Given the description of an element on the screen output the (x, y) to click on. 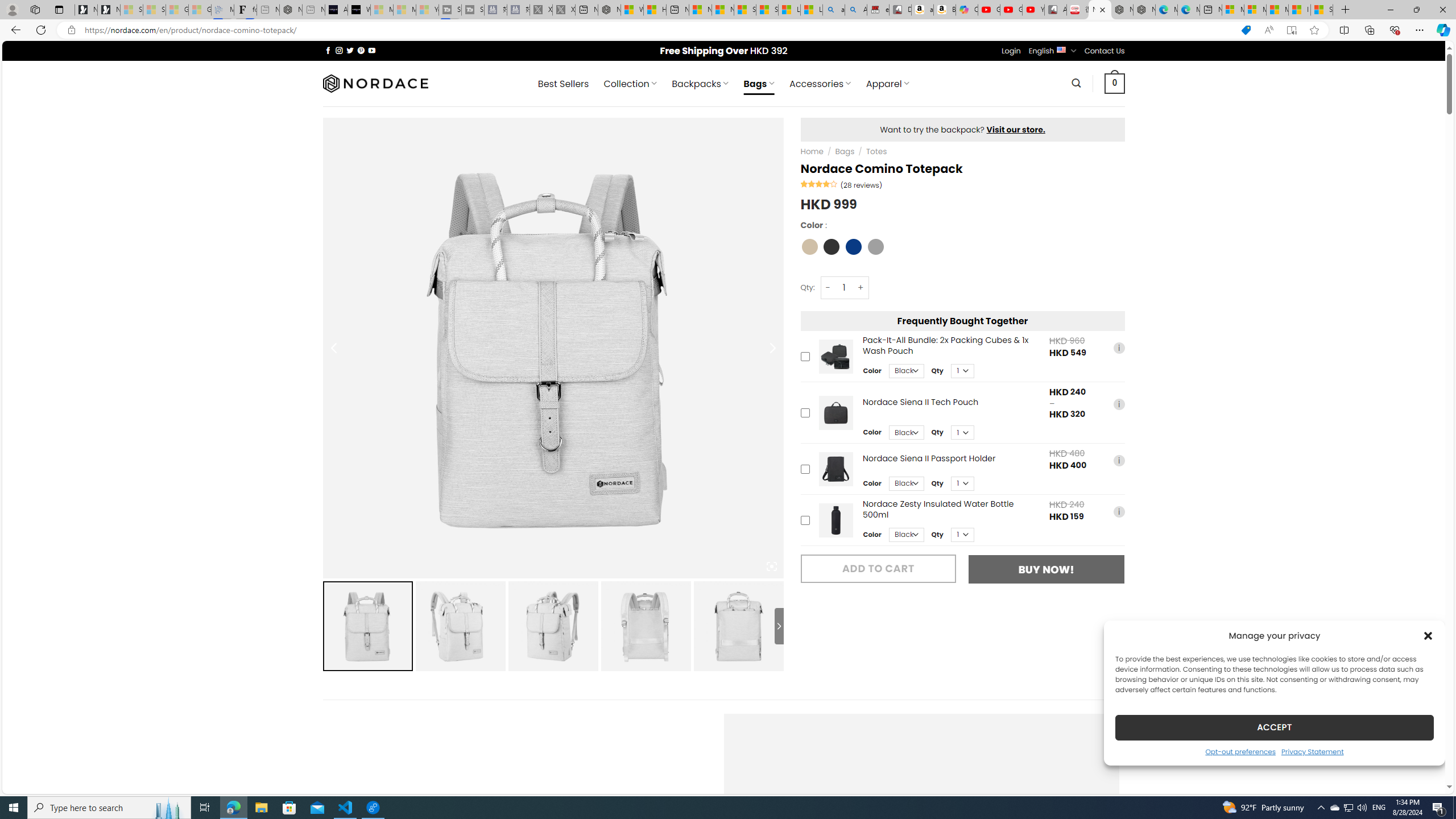
  0   (1115, 83)
Nordace Comino Totepack (1099, 9)
Amazon Echo Dot PNG - Search Images (856, 9)
amazon.in/dp/B0CX59H5W7/?tag=gsmcom05-21 (923, 9)
Pack-It-All Bundle: 2x Packing Cubes & 1x Wash Pouch (835, 356)
AI Voice Changer for PC and Mac - Voice.ai (336, 9)
Rated 4.07 out of 5 (819, 183)
Microsoft account | Privacy (1255, 9)
Nordace Comino Totepack (738, 625)
What's the best AI voice generator? - voice.ai (359, 9)
Microsoft Start - Sleeping (404, 9)
New tab - Sleeping (313, 9)
